Given the description of an element on the screen output the (x, y) to click on. 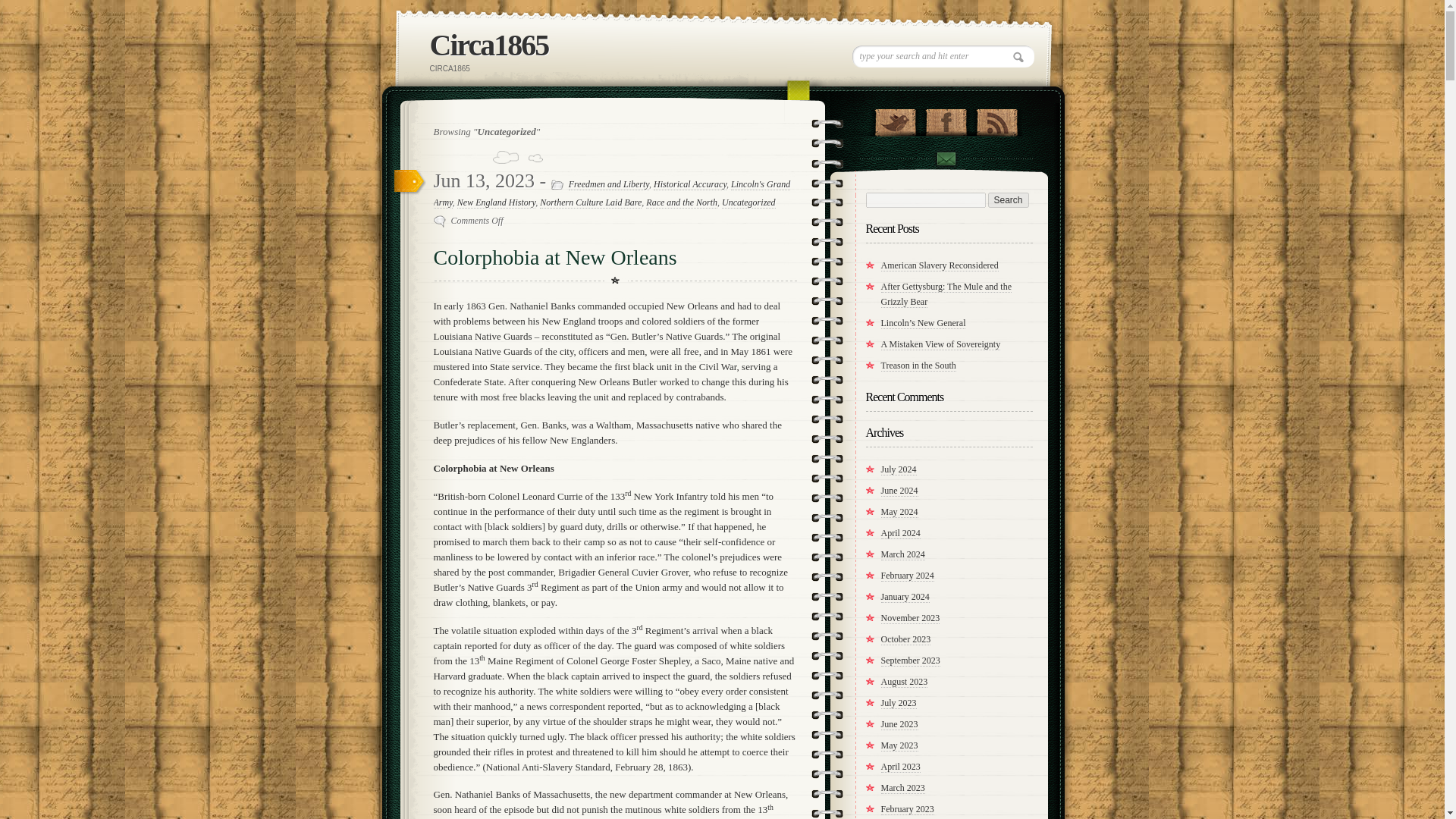
type your search and hit enter (942, 56)
Freedmen and Liberty (609, 184)
Search (1007, 200)
Colorphobia at New Orleans (555, 257)
Race and the North (681, 202)
RSS (996, 118)
New England History (496, 202)
Northern Culture Laid Bare (591, 202)
Lincoln's Grand Army (611, 193)
Follow Us on Twitter! (894, 118)
Historical Accuracy (689, 184)
Join Us on Facebook! (945, 118)
Uncategorized (749, 202)
Circa1865 (488, 44)
